Given the description of an element on the screen output the (x, y) to click on. 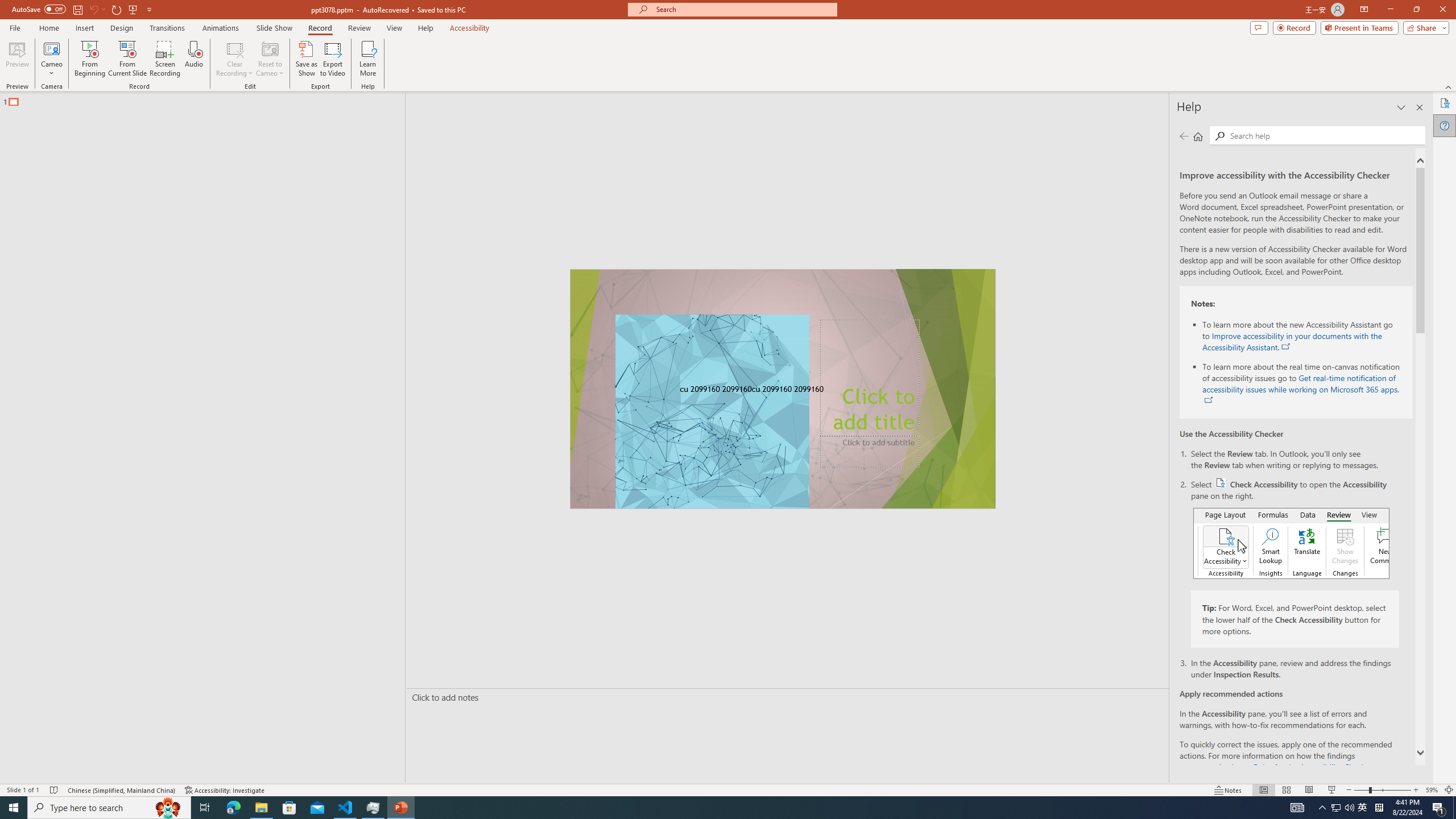
Rules for the Accessibility Checker (1310, 766)
